Given the description of an element on the screen output the (x, y) to click on. 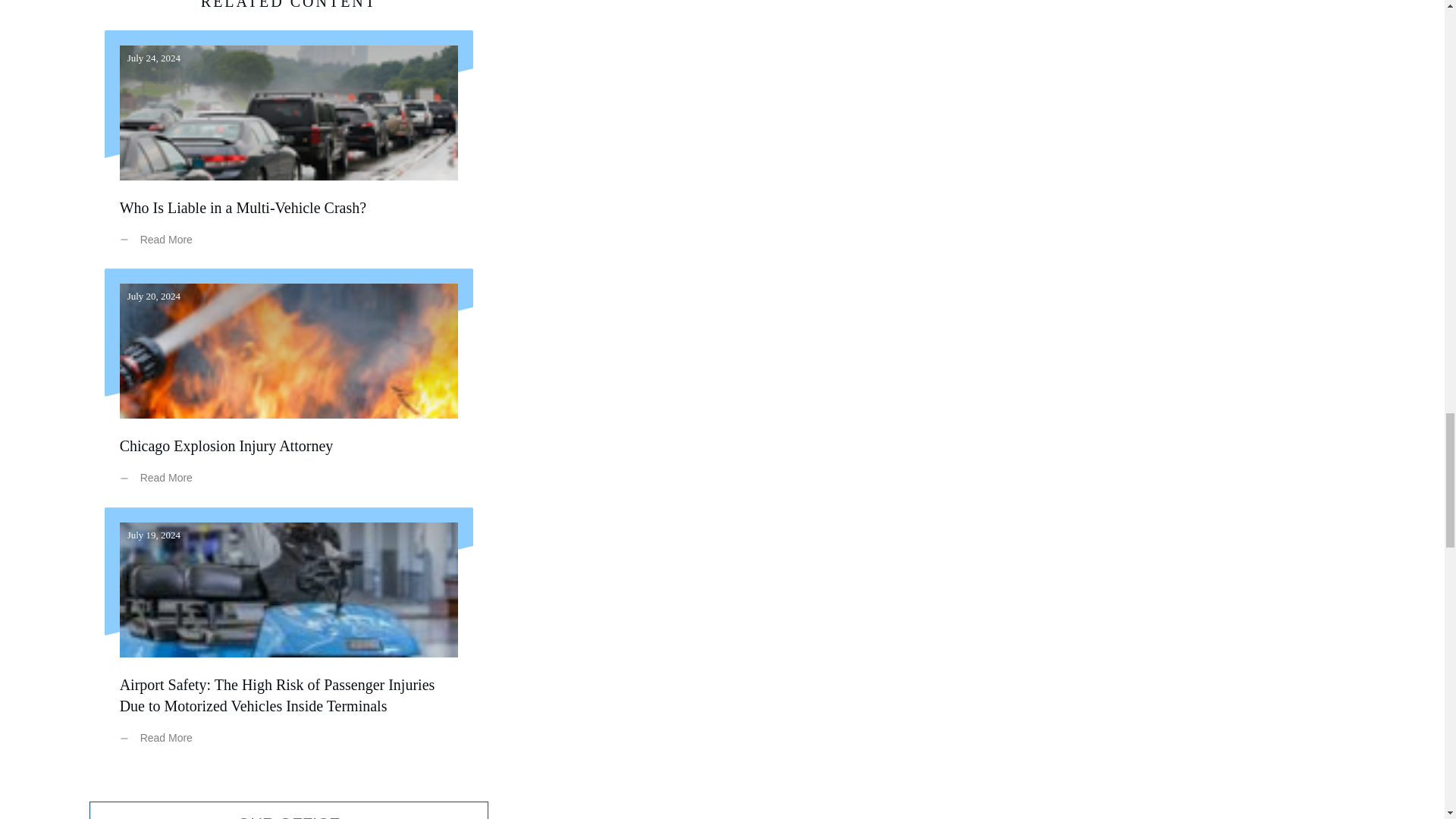
Chicago Explosion Injury Attorney (226, 445)
